Given the description of an element on the screen output the (x, y) to click on. 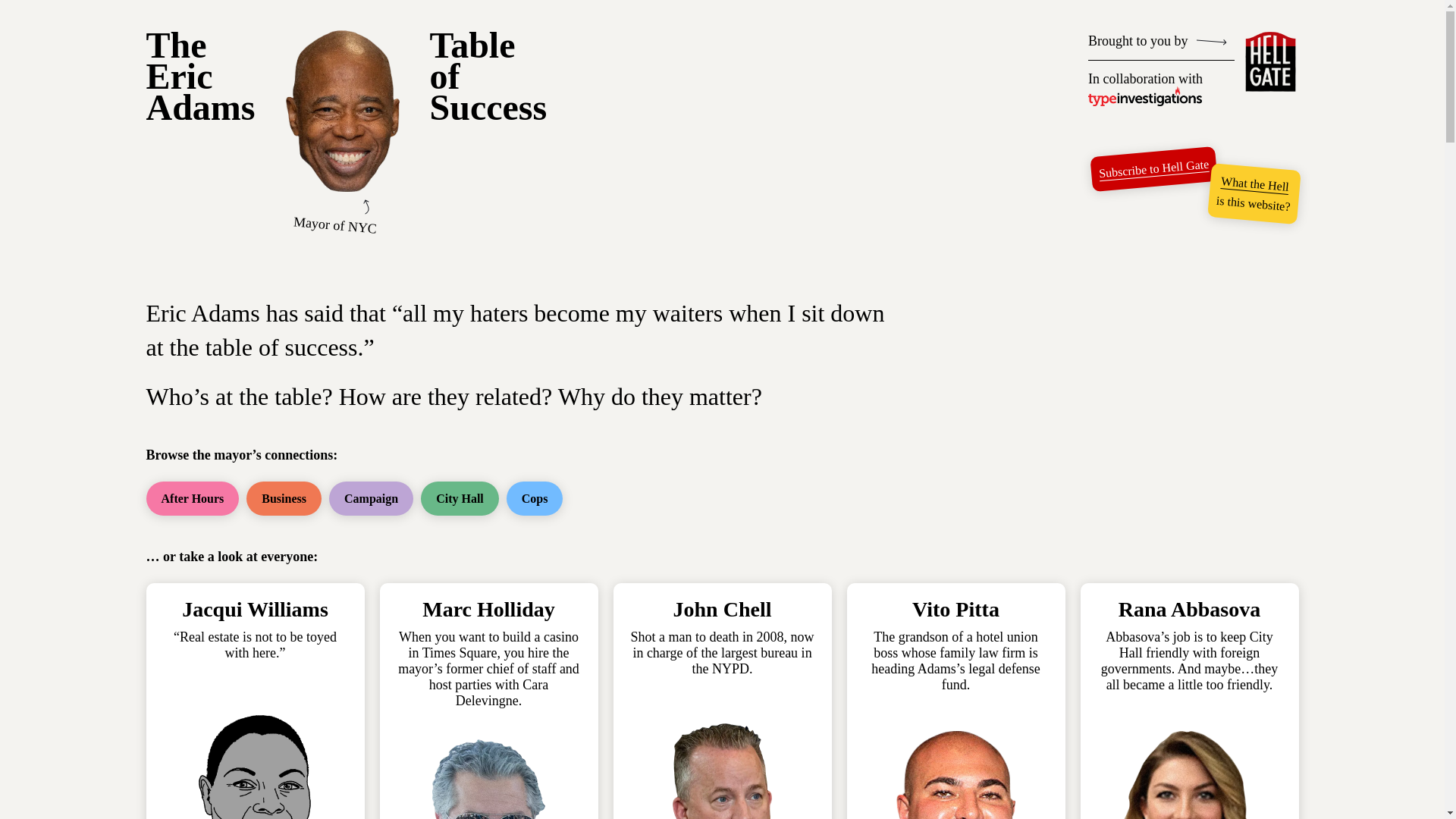
Marc Holliday (488, 608)
John Chell (721, 608)
Cops (534, 498)
Business (488, 76)
Subscribe to Hell Gate (199, 76)
What the Hell (283, 498)
After Hours (1153, 163)
City Hall (1254, 180)
